Given the description of an element on the screen output the (x, y) to click on. 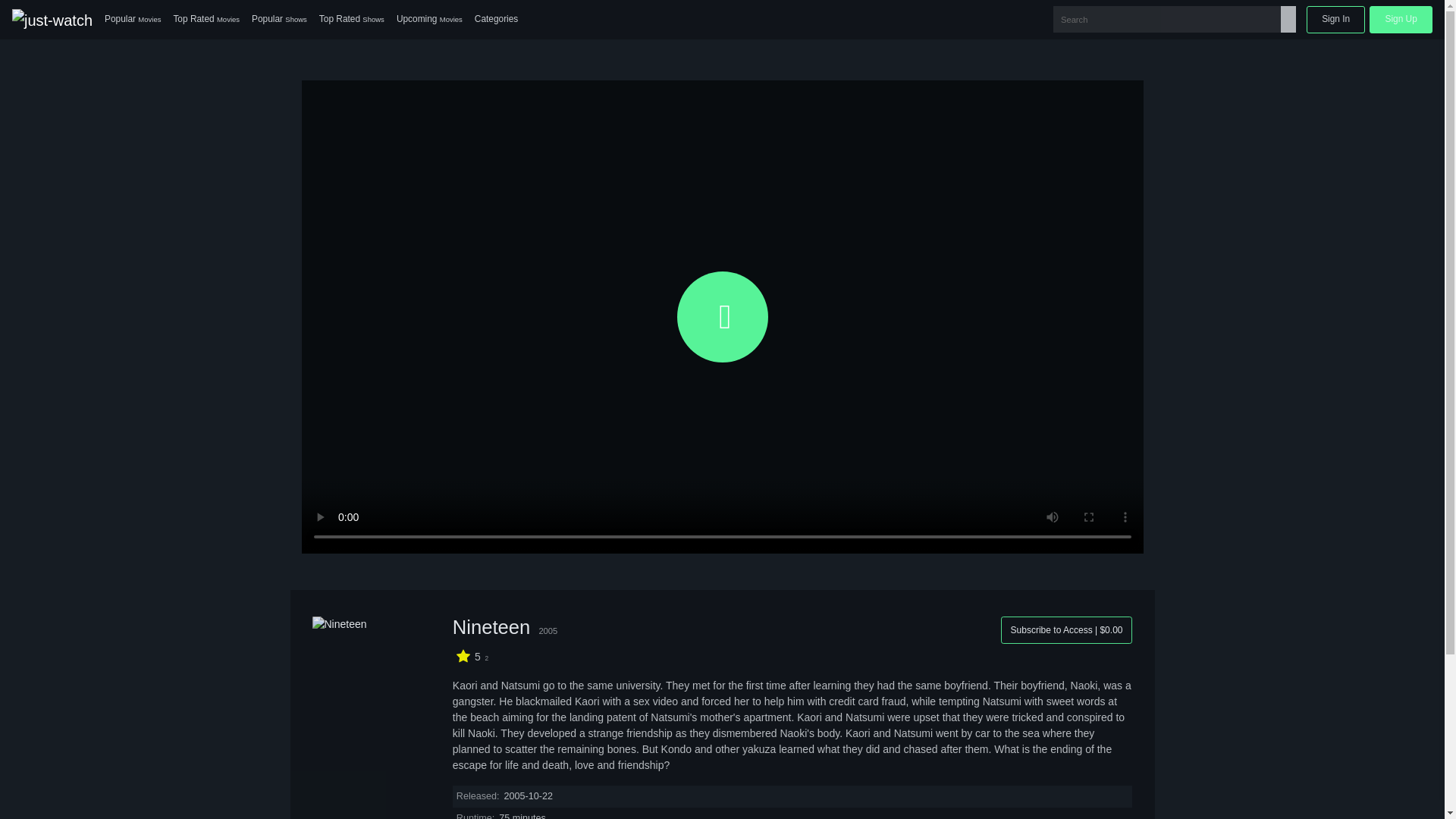
Upcoming Movies (429, 19)
Top Rated Movies (206, 19)
Top Rated Shows (351, 19)
Categories (496, 19)
Popular Movies (133, 19)
Popular Shows (279, 19)
